Given the description of an element on the screen output the (x, y) to click on. 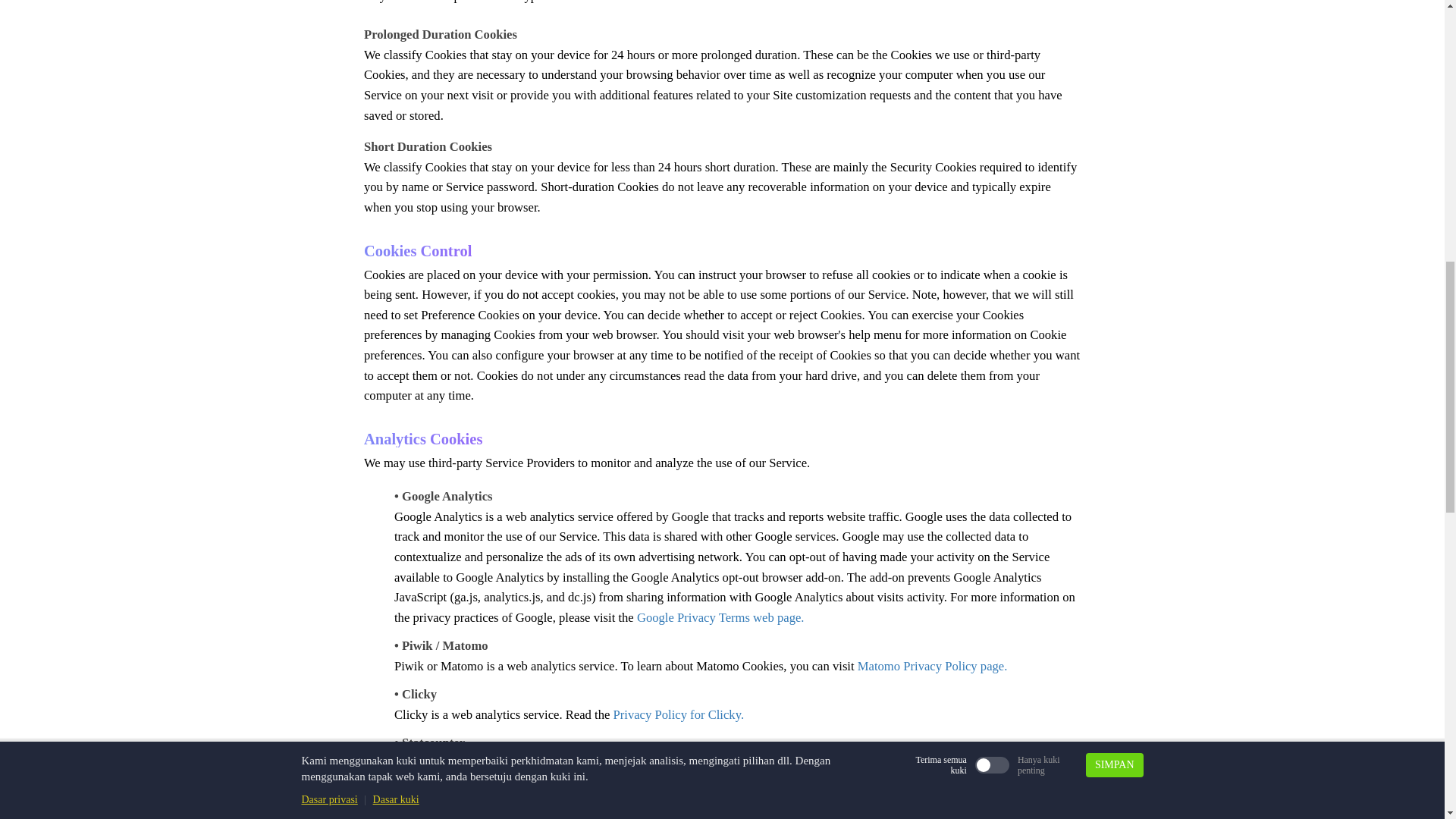
Privacy Policy for Statcounter. (767, 762)
Matomo Privacy Policy page. (932, 666)
Privacy Policy for Clicky. (678, 714)
Google Privacy Terms web page. (721, 617)
